Given the description of an element on the screen output the (x, y) to click on. 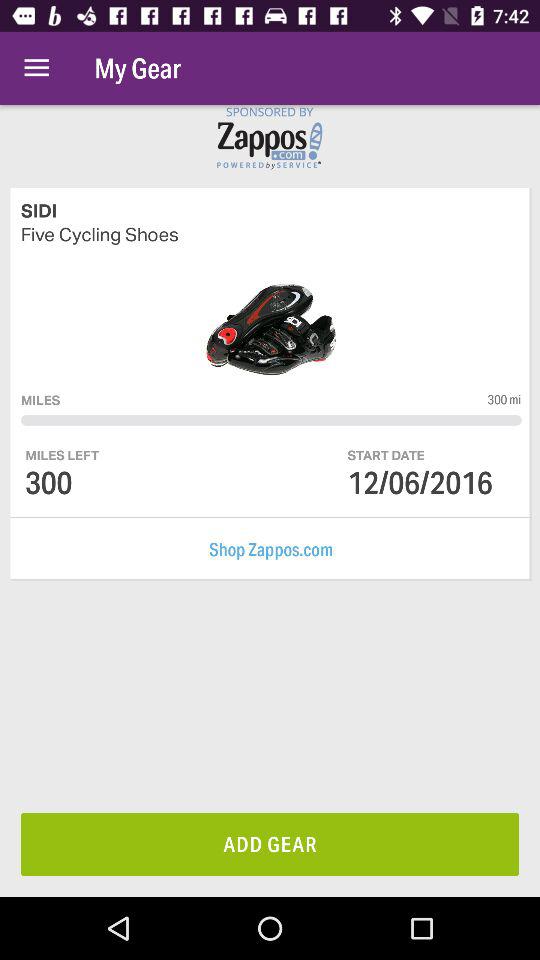
tap the item below shop zappos.com icon (270, 844)
